Given the description of an element on the screen output the (x, y) to click on. 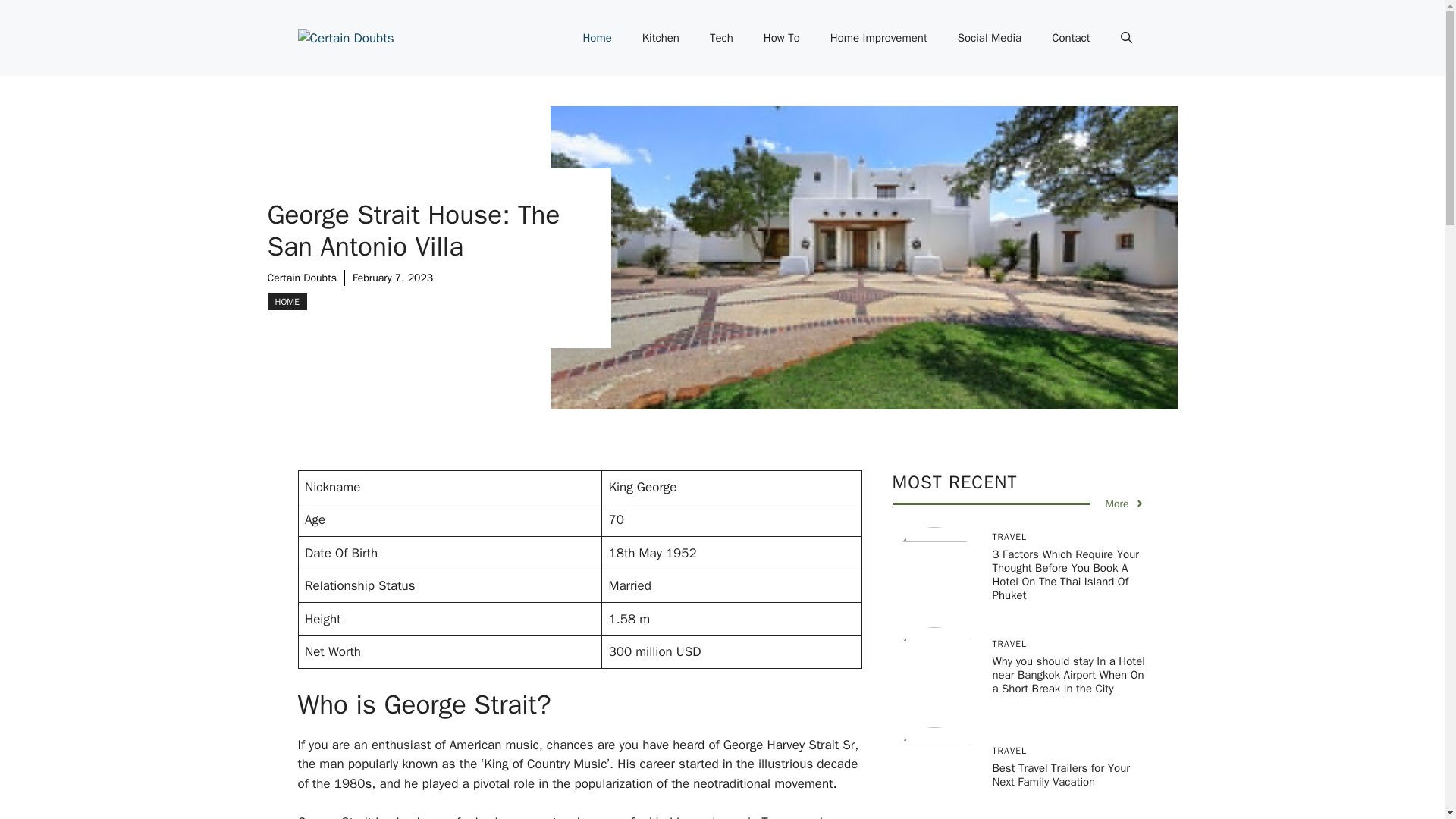
Home (596, 37)
Certain Doubts (301, 277)
More (1124, 503)
Tech (721, 37)
Home Improvement (878, 37)
Kitchen (660, 37)
Best Travel Trailers for Your Next Family Vacation (1060, 774)
How To (781, 37)
Social Media (989, 37)
HOME (285, 300)
Contact (1070, 37)
